Given the description of an element on the screen output the (x, y) to click on. 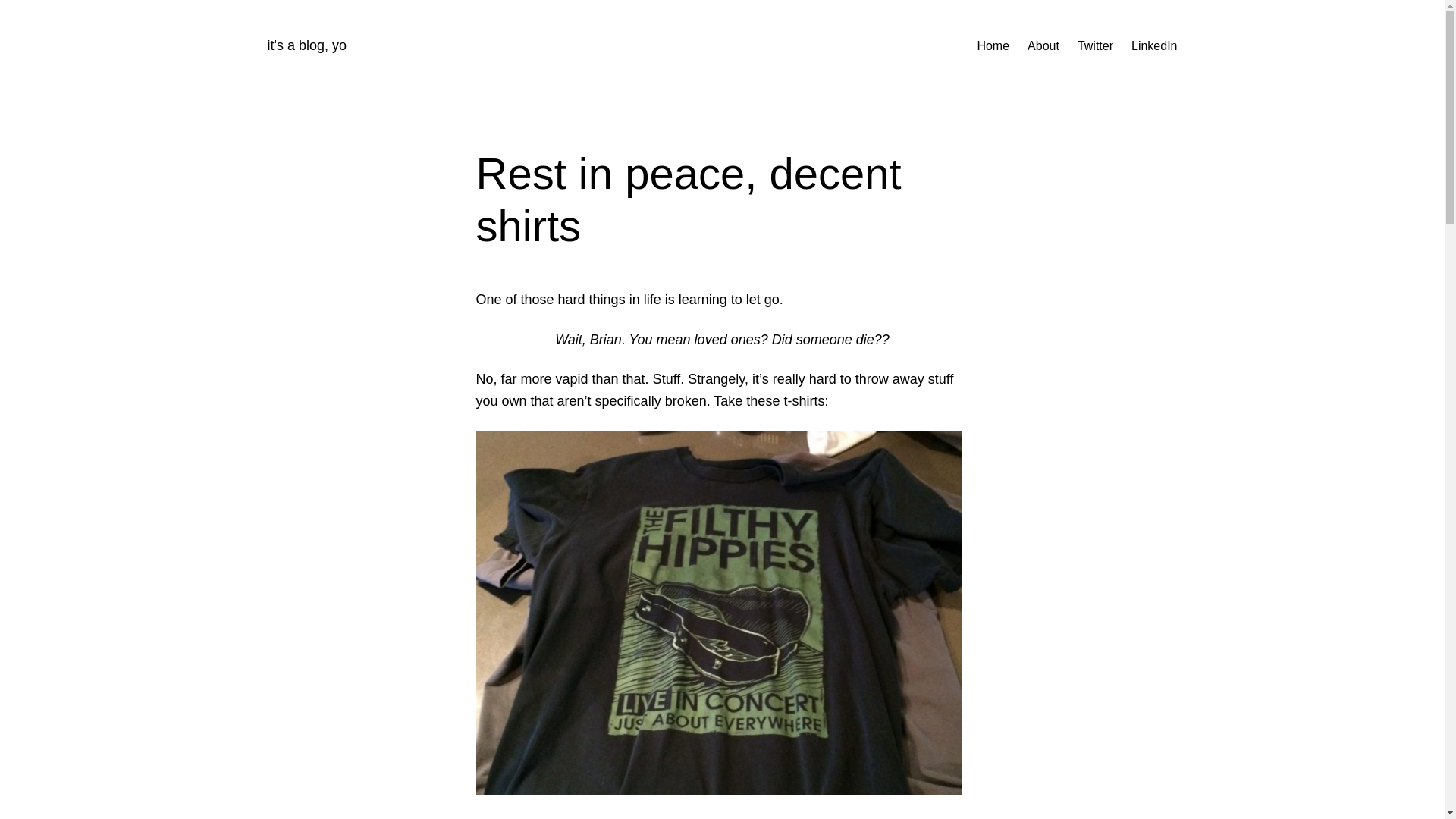
it's a blog, yo Element type: text (306, 45)
LinkedIn Element type: text (1154, 46)
Twitter Element type: text (1095, 46)
Home Element type: text (992, 46)
About Element type: text (1043, 46)
